Given the description of an element on the screen output the (x, y) to click on. 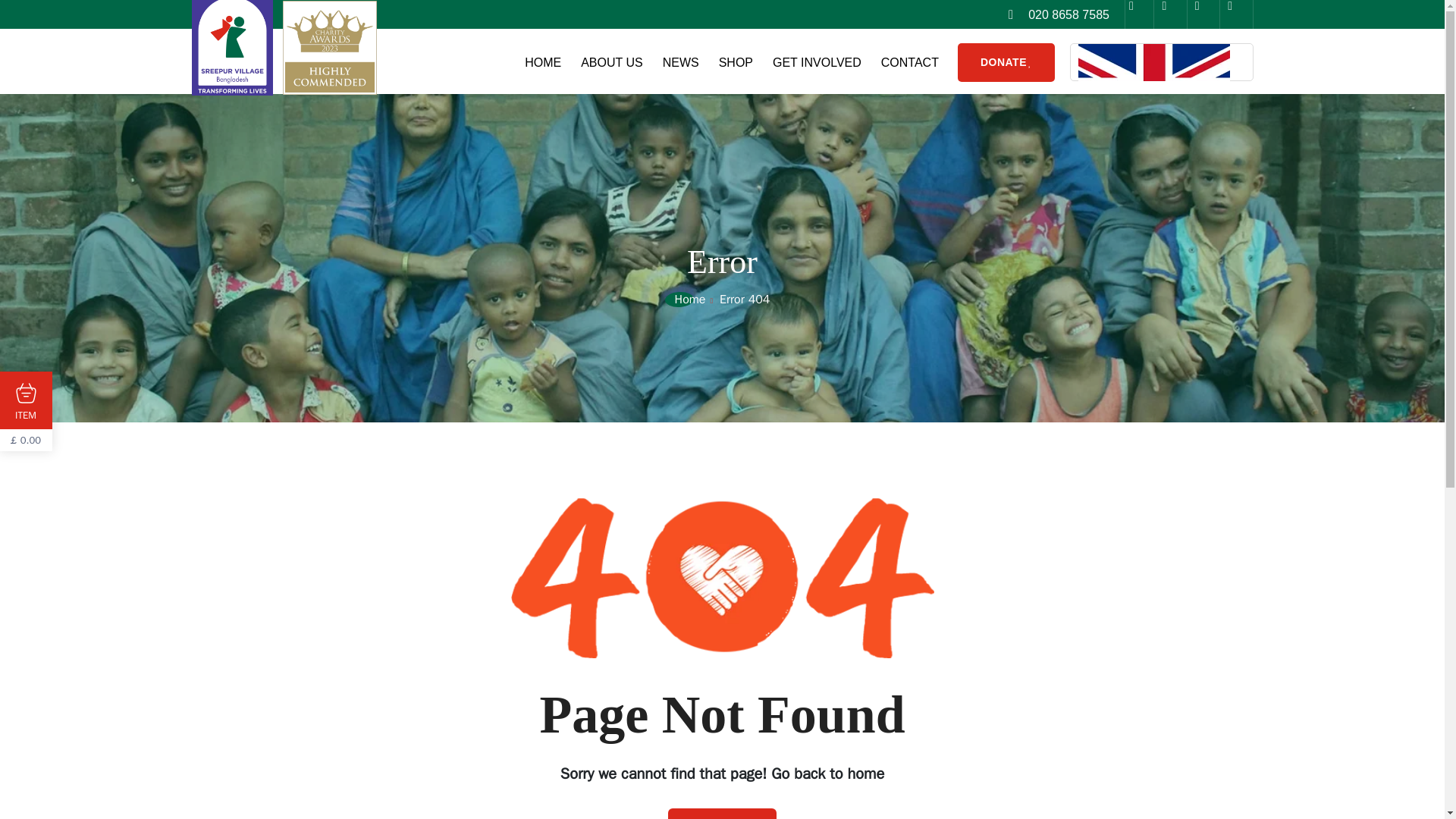
HOME (542, 62)
SHOP (735, 62)
GET INVOLVED (817, 62)
ABOUT US (611, 62)
CONTACT (909, 62)
NEWS (680, 62)
